Given the description of an element on the screen output the (x, y) to click on. 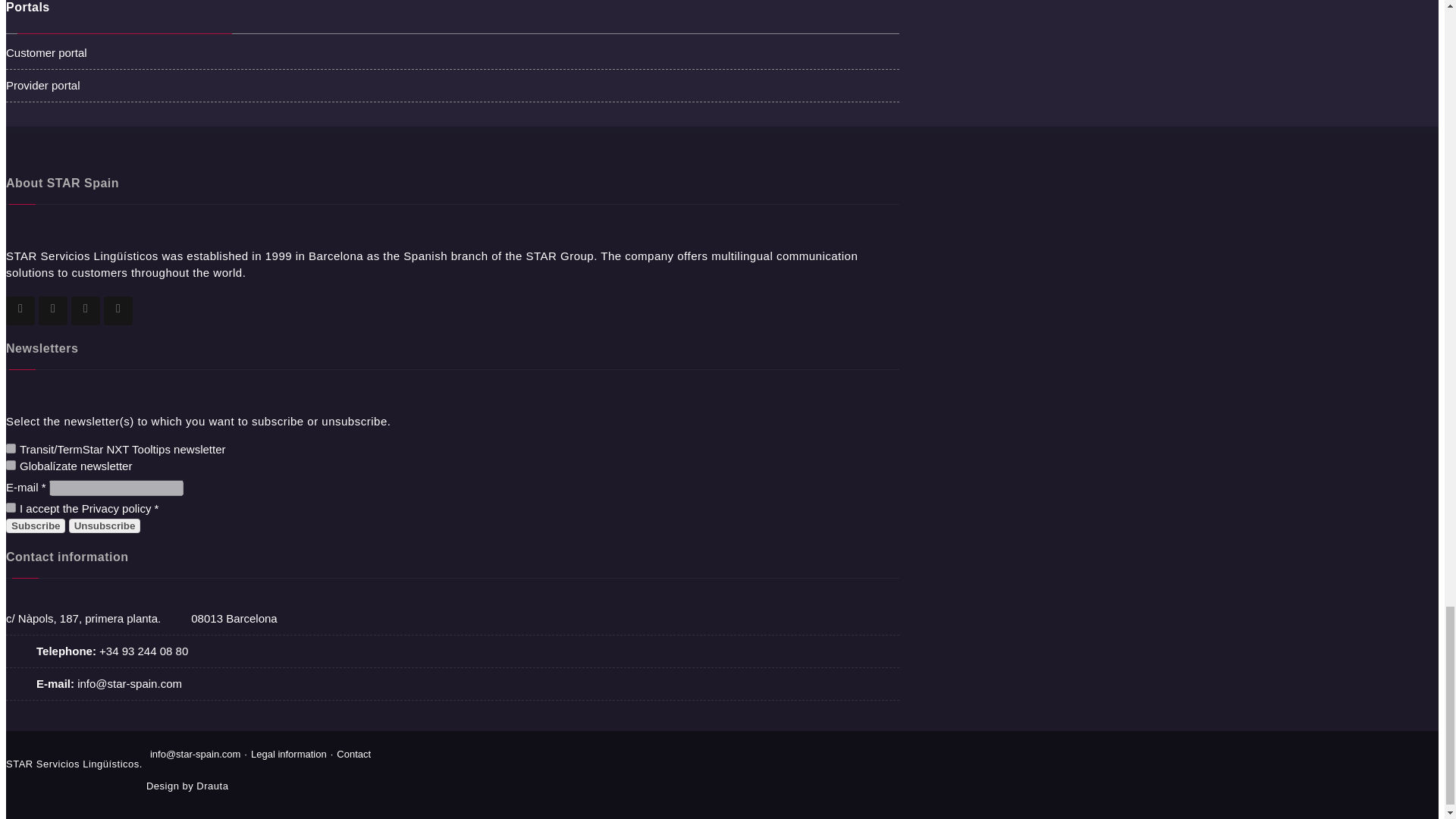
1 (10, 507)
Drauta (212, 785)
2276 (10, 448)
2278 (10, 465)
